Given the description of an element on the screen output the (x, y) to click on. 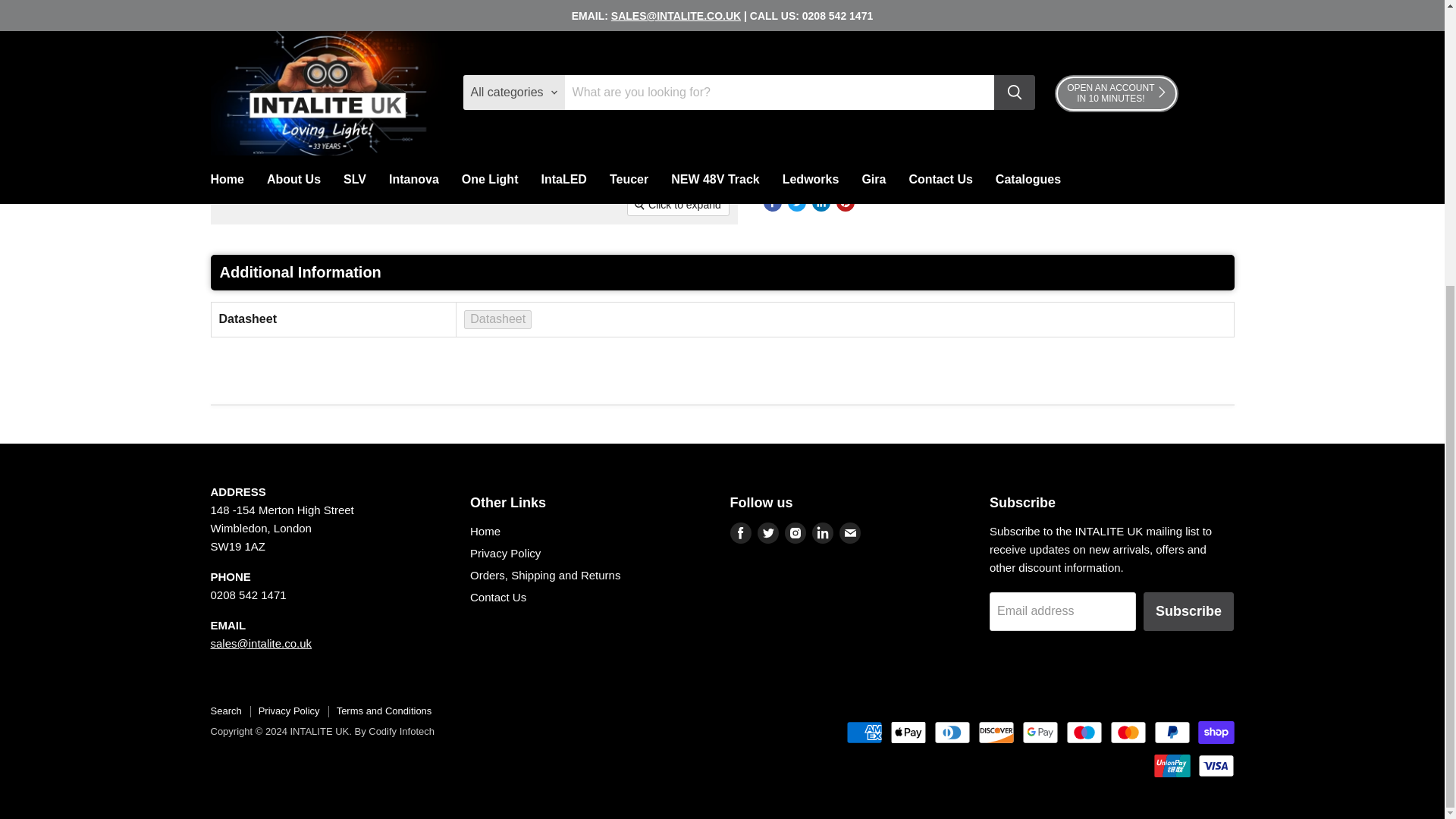
Discover (996, 732)
Instagram (794, 532)
Twitter (767, 532)
Google Pay (1040, 732)
Diners Club (952, 732)
Apple Pay (907, 732)
American Express (863, 732)
Maestro (1083, 732)
Email (849, 532)
LinkedIn (821, 532)
